Given the description of an element on the screen output the (x, y) to click on. 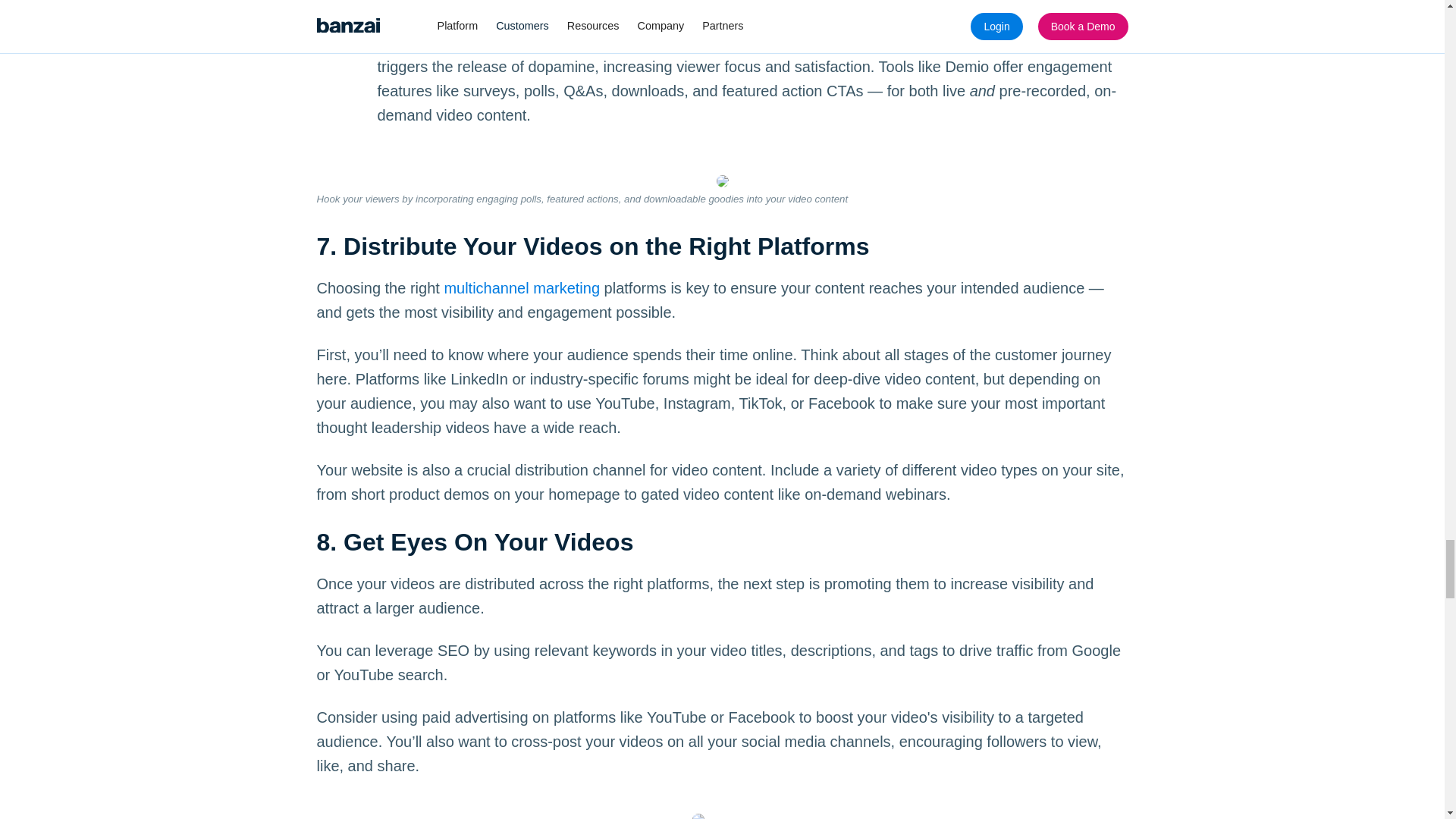
multichannel marketing (521, 288)
